Given the description of an element on the screen output the (x, y) to click on. 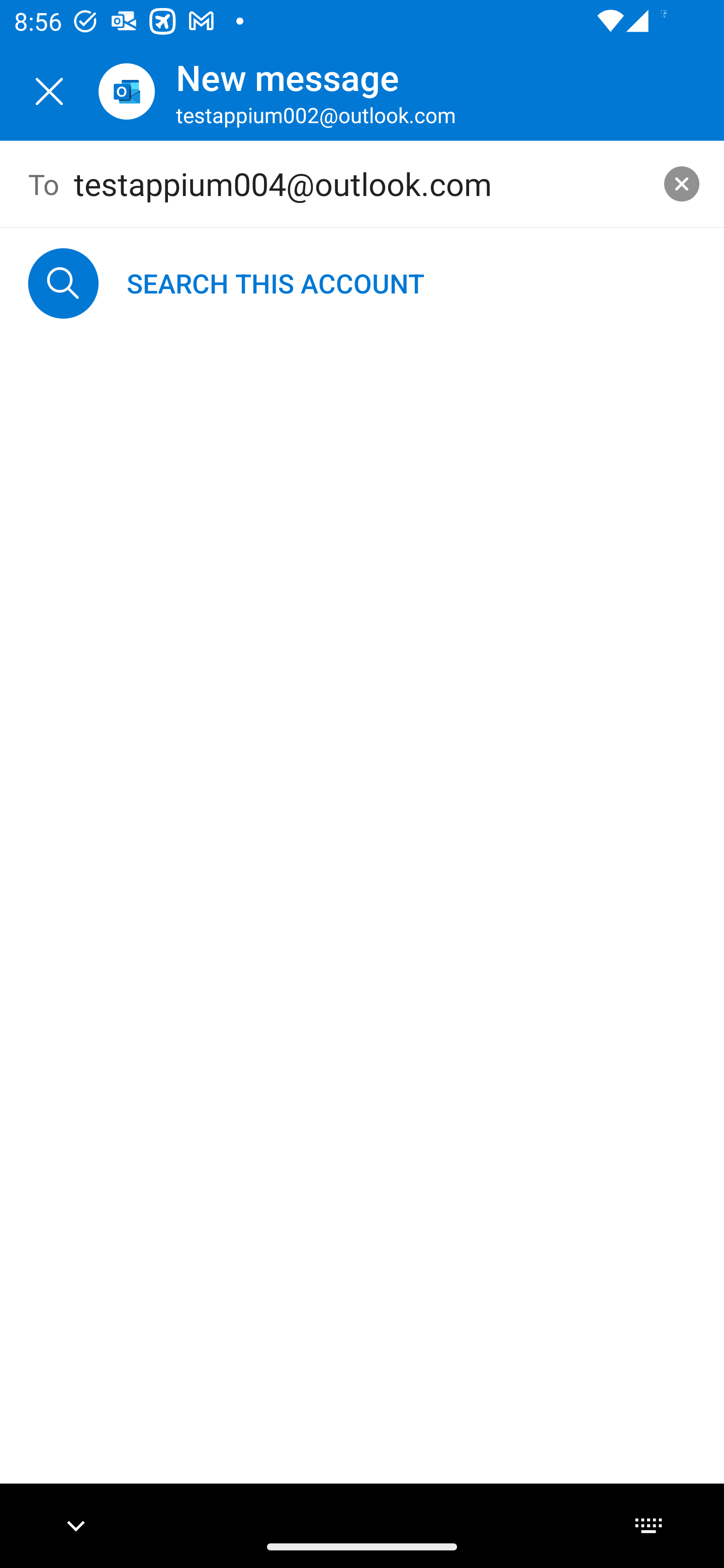
Close (49, 91)
testappium004@outlook.com (362, 184)
clear search (681, 183)
